Given the description of an element on the screen output the (x, y) to click on. 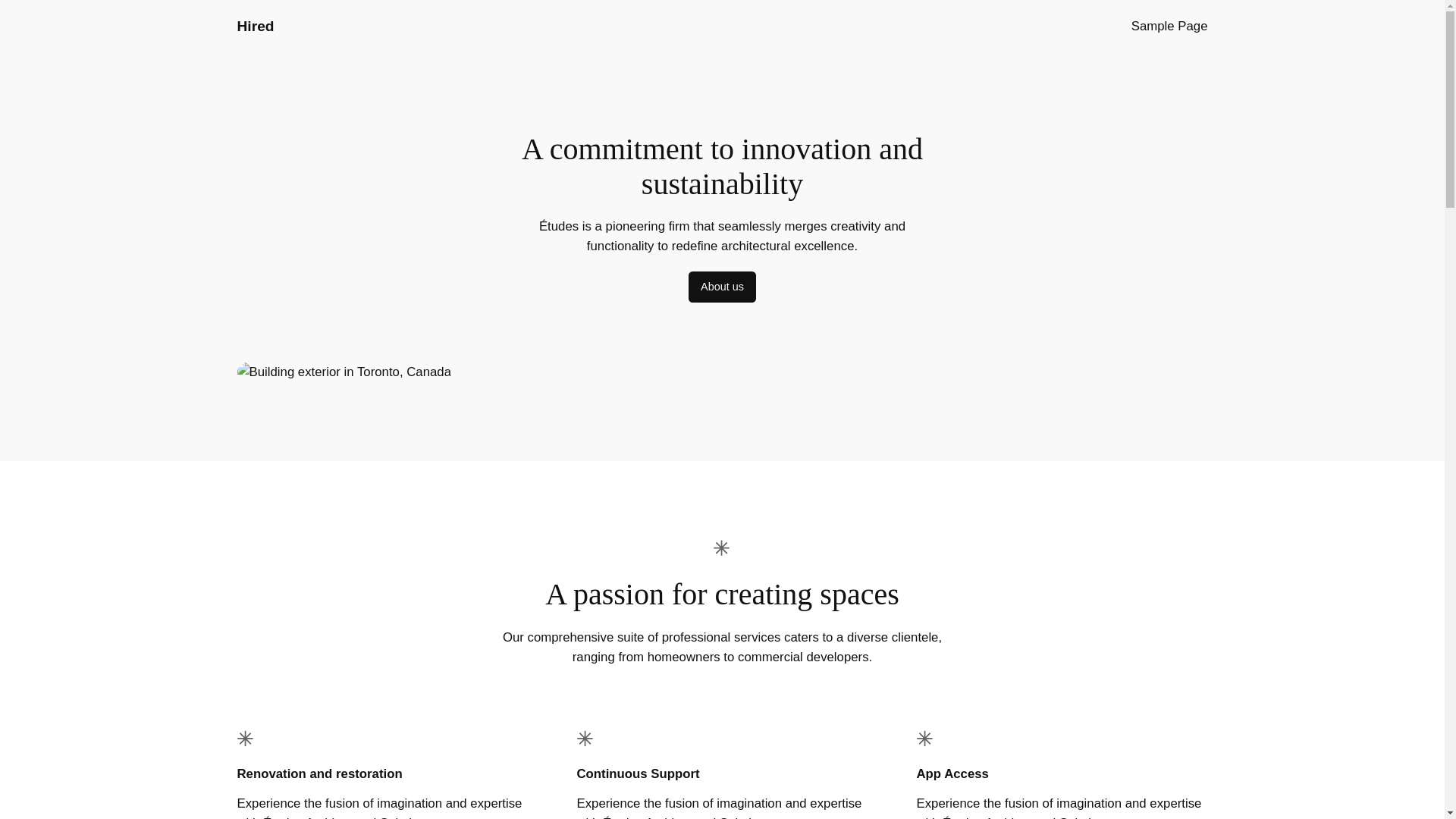
About us (721, 287)
Hired (254, 26)
Sample Page (1169, 26)
